Given the description of an element on the screen output the (x, y) to click on. 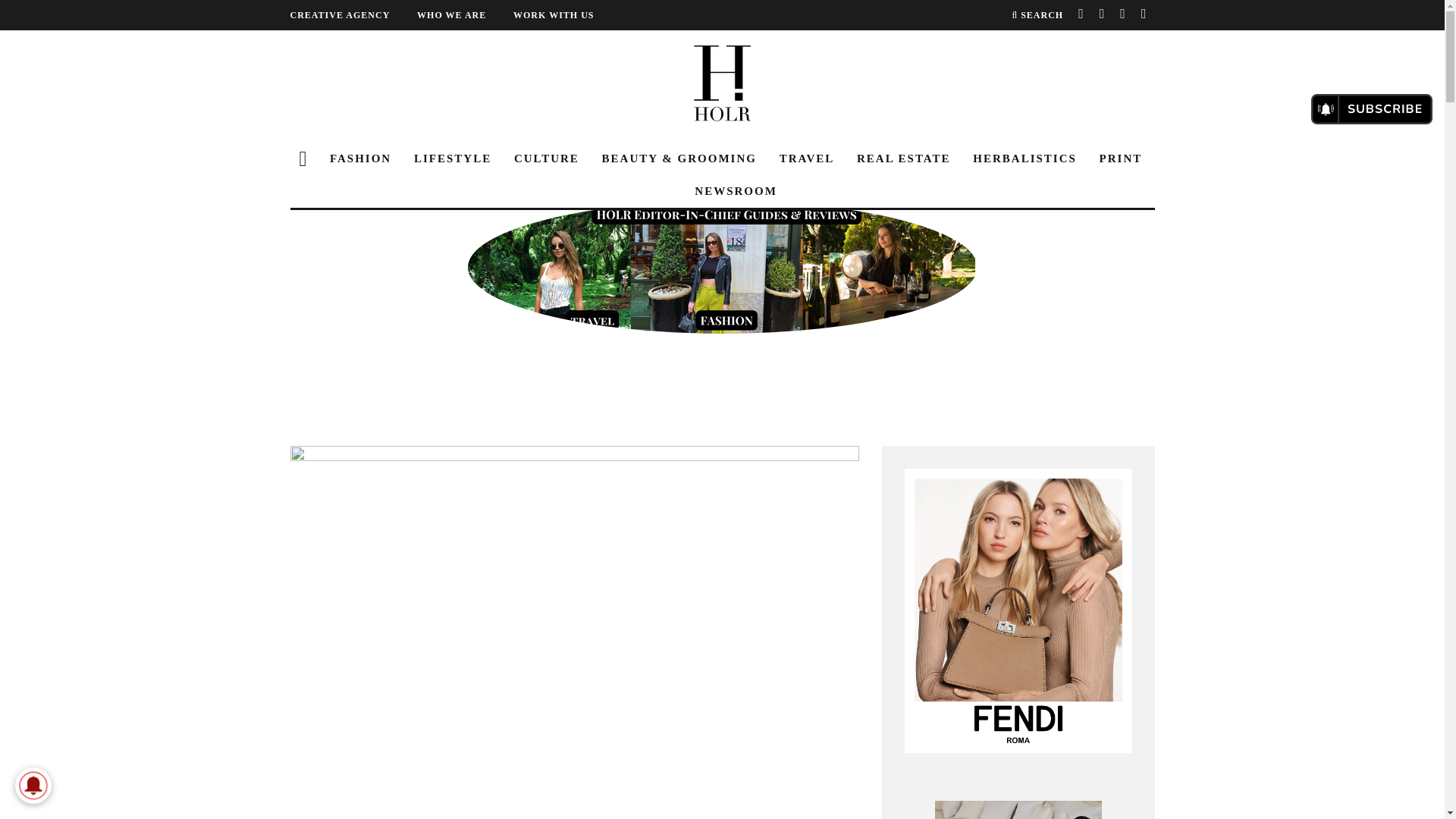
CREATIVE AGENCY (351, 14)
Search (1036, 15)
SEARCH (1036, 15)
WORK WITH US (565, 14)
WHO WE ARE (463, 14)
